Given the description of an element on the screen output the (x, y) to click on. 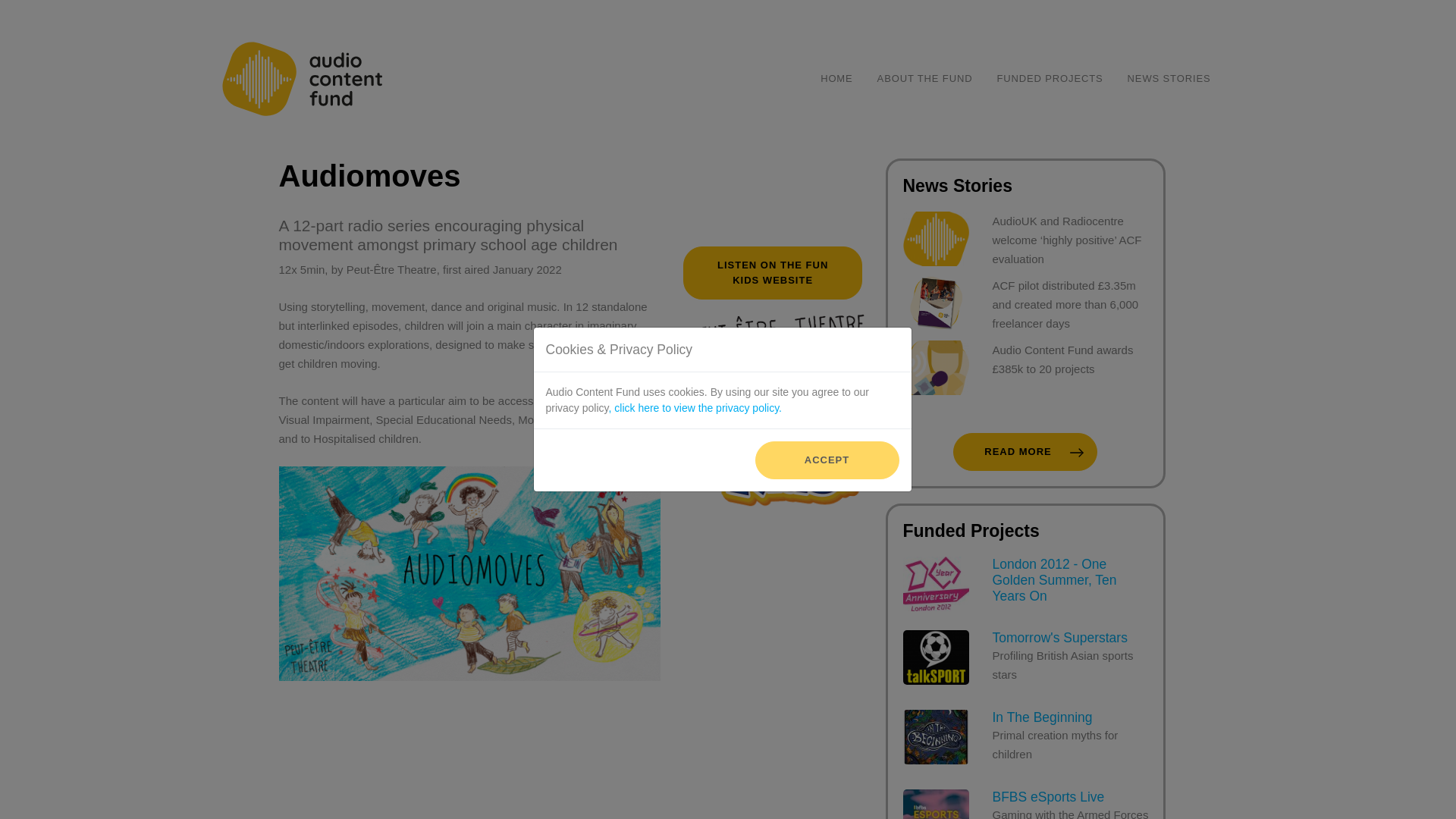
HOME (1025, 665)
ABOUT THE FUND (836, 78)
ACCEPT (924, 78)
FUNDED PROJECTS (827, 460)
NEWS STORIES (1049, 78)
LISTEN ON THE FUN KIDS WEBSITE (1169, 78)
READ MORE (1025, 804)
, click here to view the privacy policy. (772, 272)
London 2012 - One Golden Summer, Ten Years On (1025, 451)
